Given the description of an element on the screen output the (x, y) to click on. 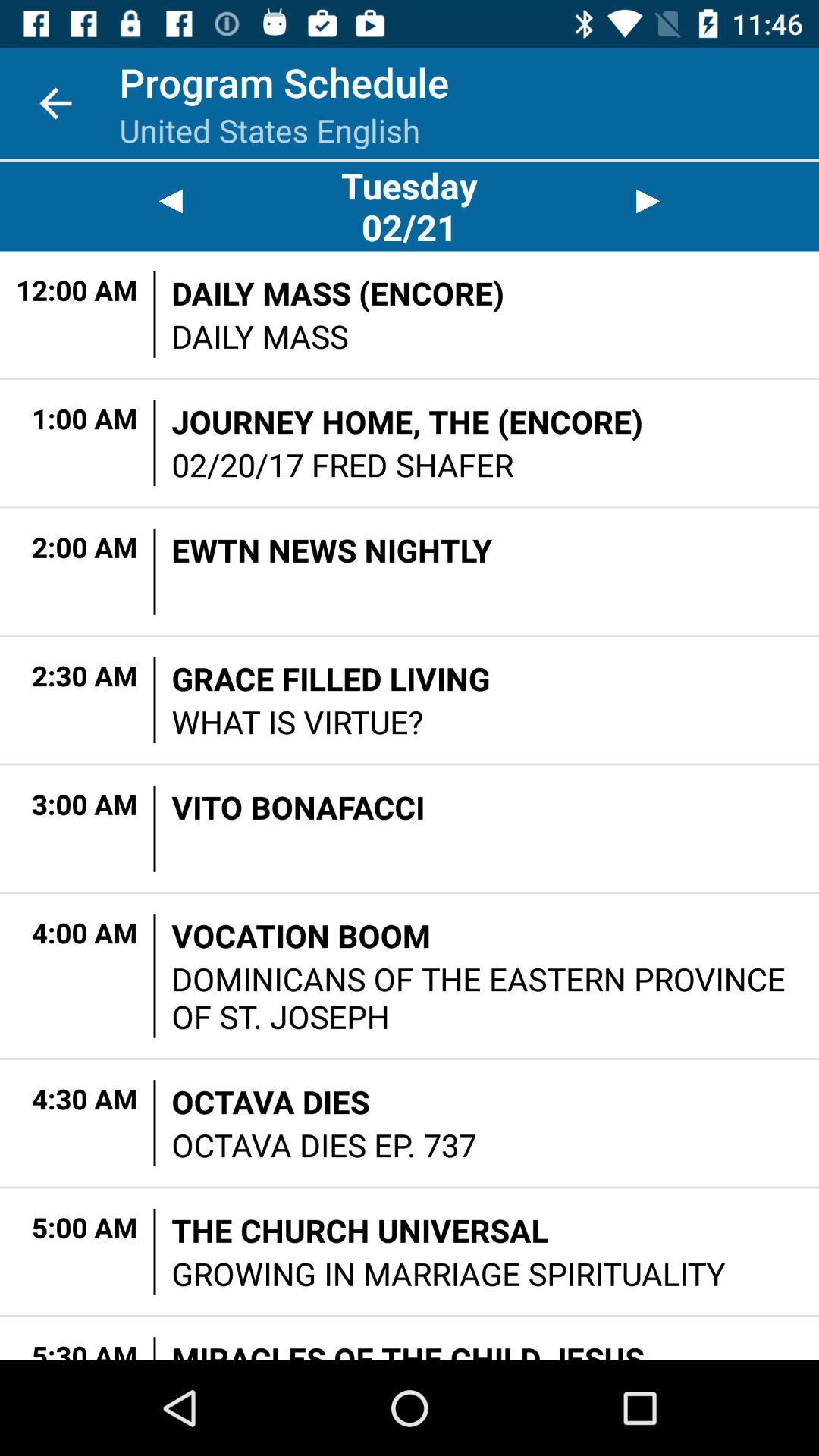
open the icon next to the ewtn news nightly icon (154, 571)
